Given the description of an element on the screen output the (x, y) to click on. 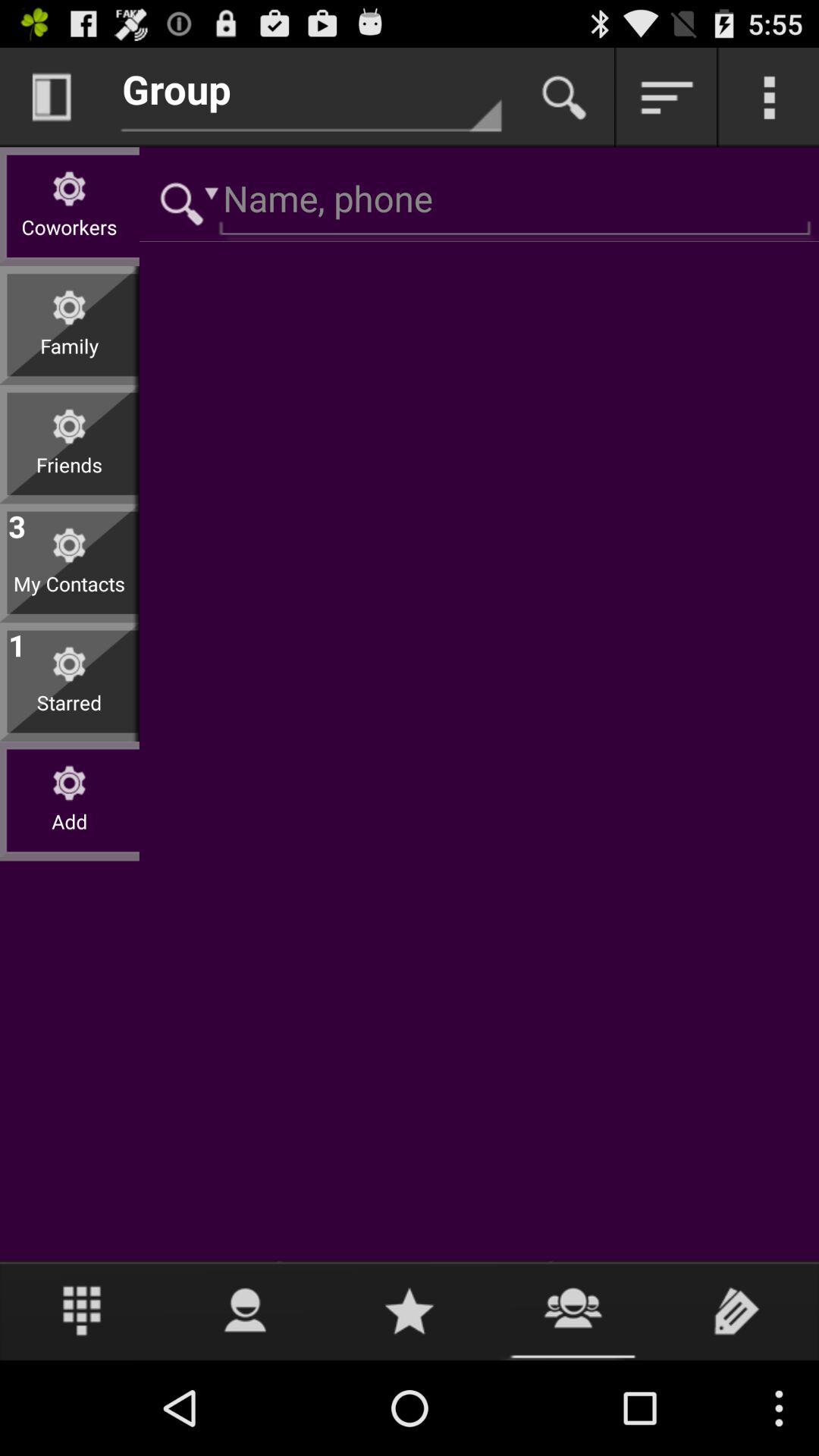
write comment (737, 1310)
